Given the description of an element on the screen output the (x, y) to click on. 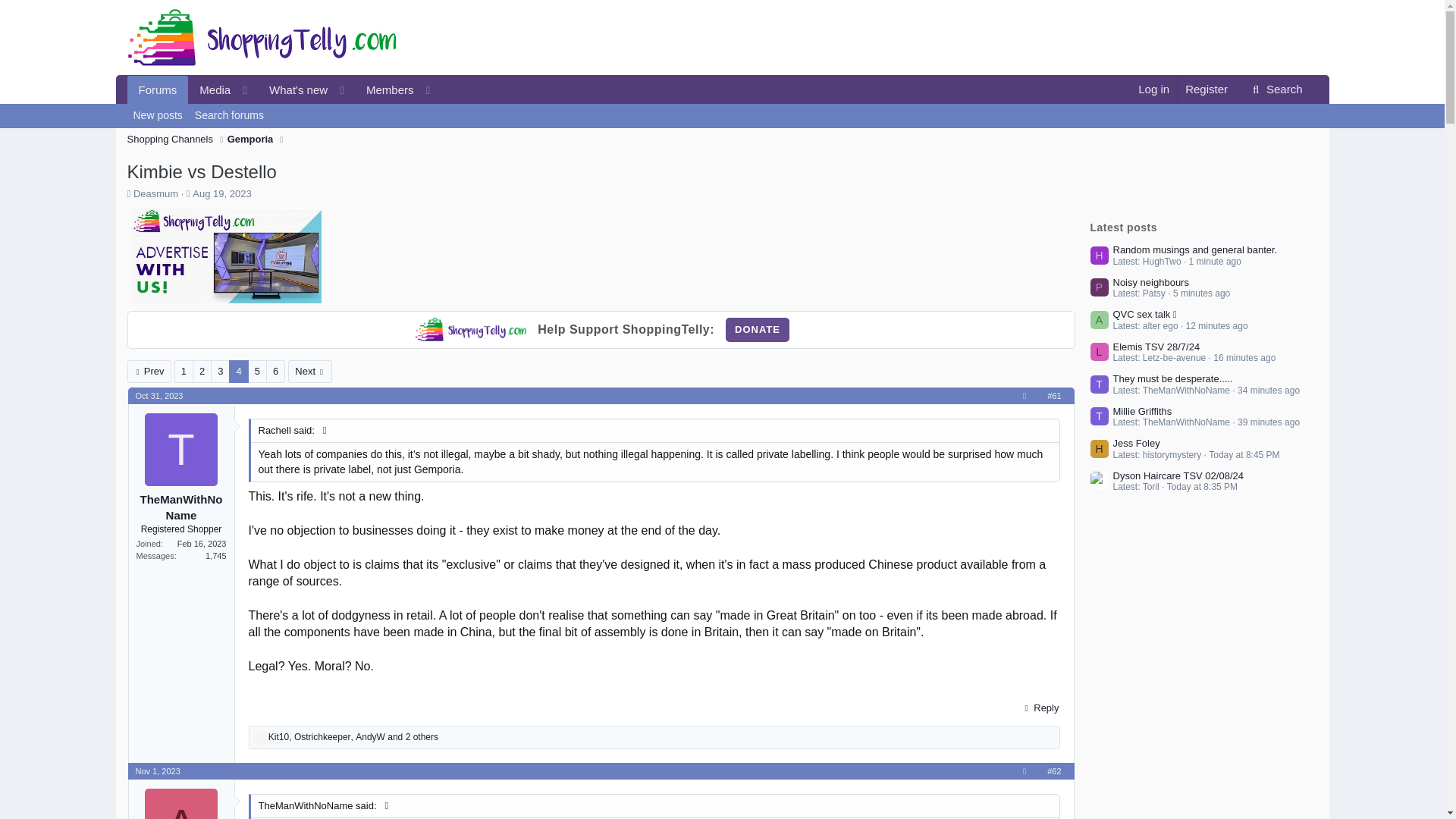
Members (288, 90)
Forums (384, 90)
Like (158, 90)
Donate (258, 737)
Deasmum (757, 329)
Aug 19, 2023 (155, 193)
Oct 31, 2023 at 9:48 PM (221, 193)
Search (159, 395)
PayPal - The safer, easier way to pay online! (1275, 89)
Register (757, 329)
New posts (1205, 89)
What's new (158, 115)
Shopping Channels (293, 90)
Aug 19, 2023 at 1:54 PM (170, 139)
